Given the description of an element on the screen output the (x, y) to click on. 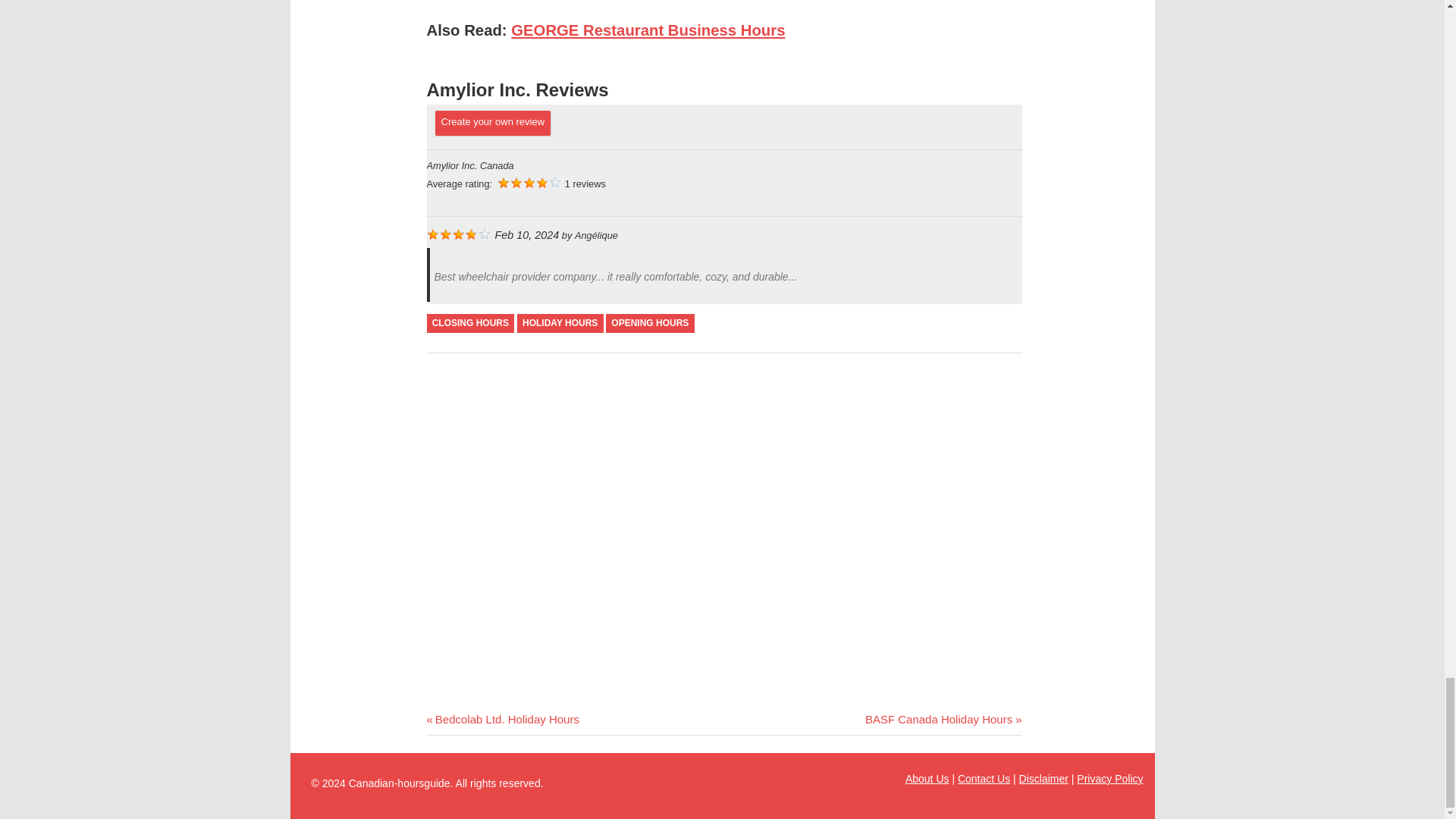
About Us (502, 718)
OPENING HOURS (943, 718)
HOLIDAY HOURS (927, 778)
CLOSING HOURS (649, 322)
Contact Us (560, 322)
GEORGE Restaurant Business Hours (469, 322)
Disclaimer (984, 778)
Privacy Policy (647, 30)
